Given the description of an element on the screen output the (x, y) to click on. 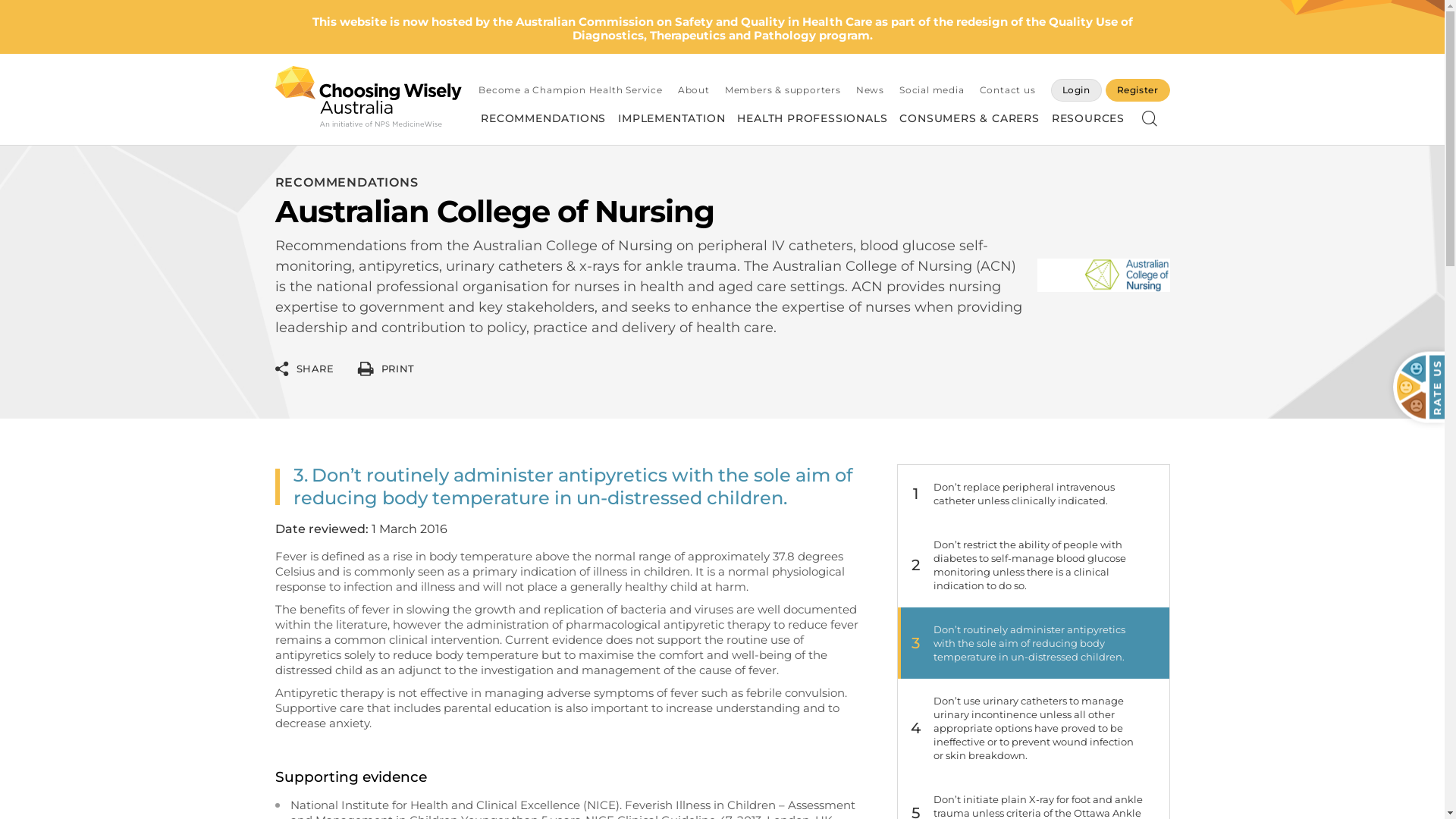
CONSUMERS & CARERS Element type: text (968, 118)
RECOMMENDATIONS Element type: text (542, 118)
Become a Champion Health Service Element type: text (570, 89)
About Element type: text (693, 89)
IMPLEMENTATION Element type: text (671, 118)
HEALTH PROFESSIONALS Element type: text (812, 118)
Australian College of Nursing Element type: text (384, 109)
A Element type: text (1164, 109)
Social media Element type: text (931, 89)
Register Element type: text (1137, 89)
A Element type: text (1146, 109)
Login Element type: text (1076, 89)
Home Element type: text (288, 109)
Members & supporters Element type: text (782, 89)
News Element type: text (870, 89)
PRINT Element type: text (385, 368)
Contact us Element type: text (1007, 89)
RESOURCES Element type: text (1087, 118)
SHARE Element type: text (303, 368)
